Given the description of an element on the screen output the (x, y) to click on. 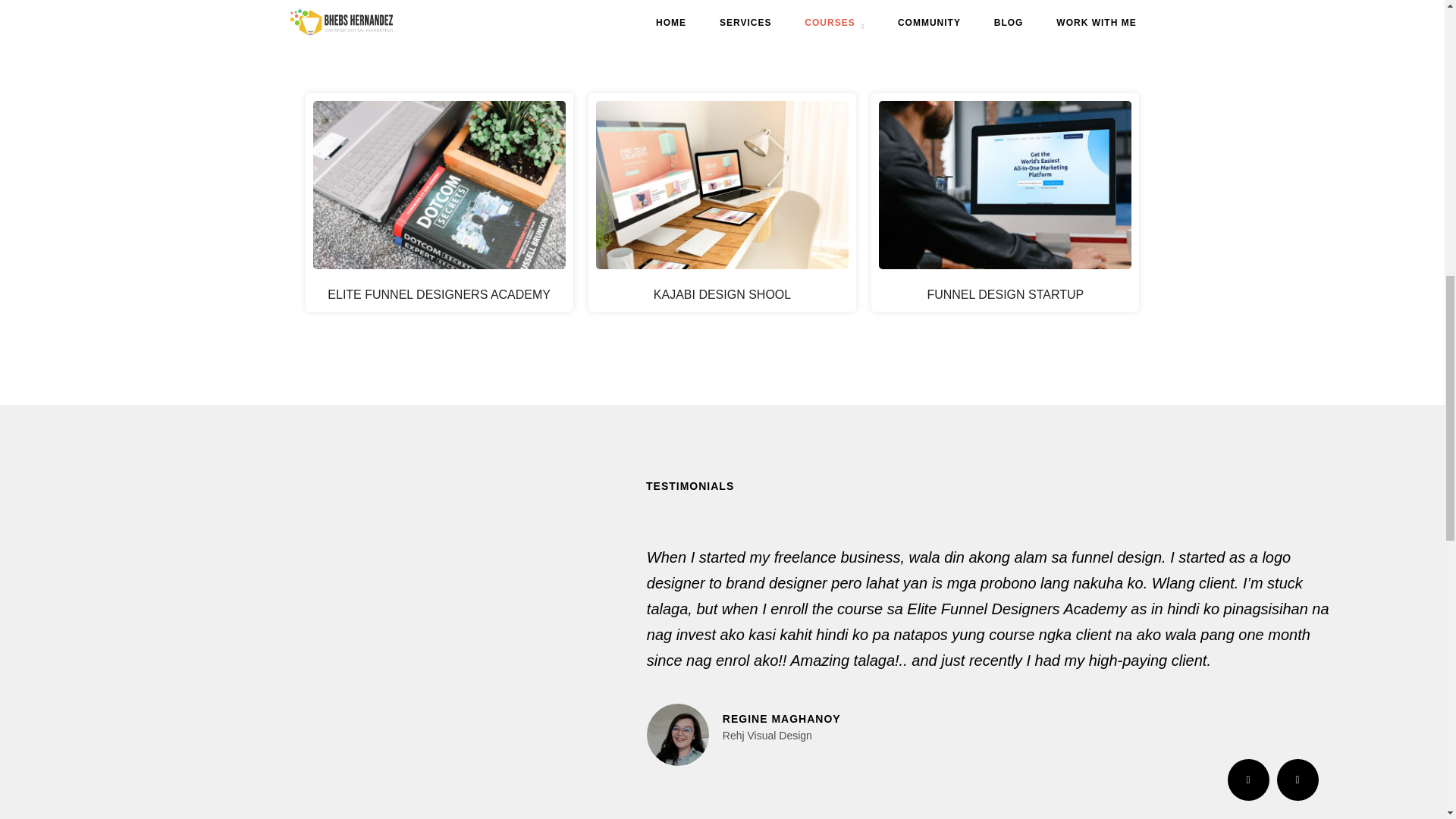
FUNNEL DESIGN STARTUP (1004, 294)
ELITE FUNNEL DESIGNERS ACADEMY (438, 294)
KAJABI DESIGN SHOOL (721, 294)
